Given the description of an element on the screen output the (x, y) to click on. 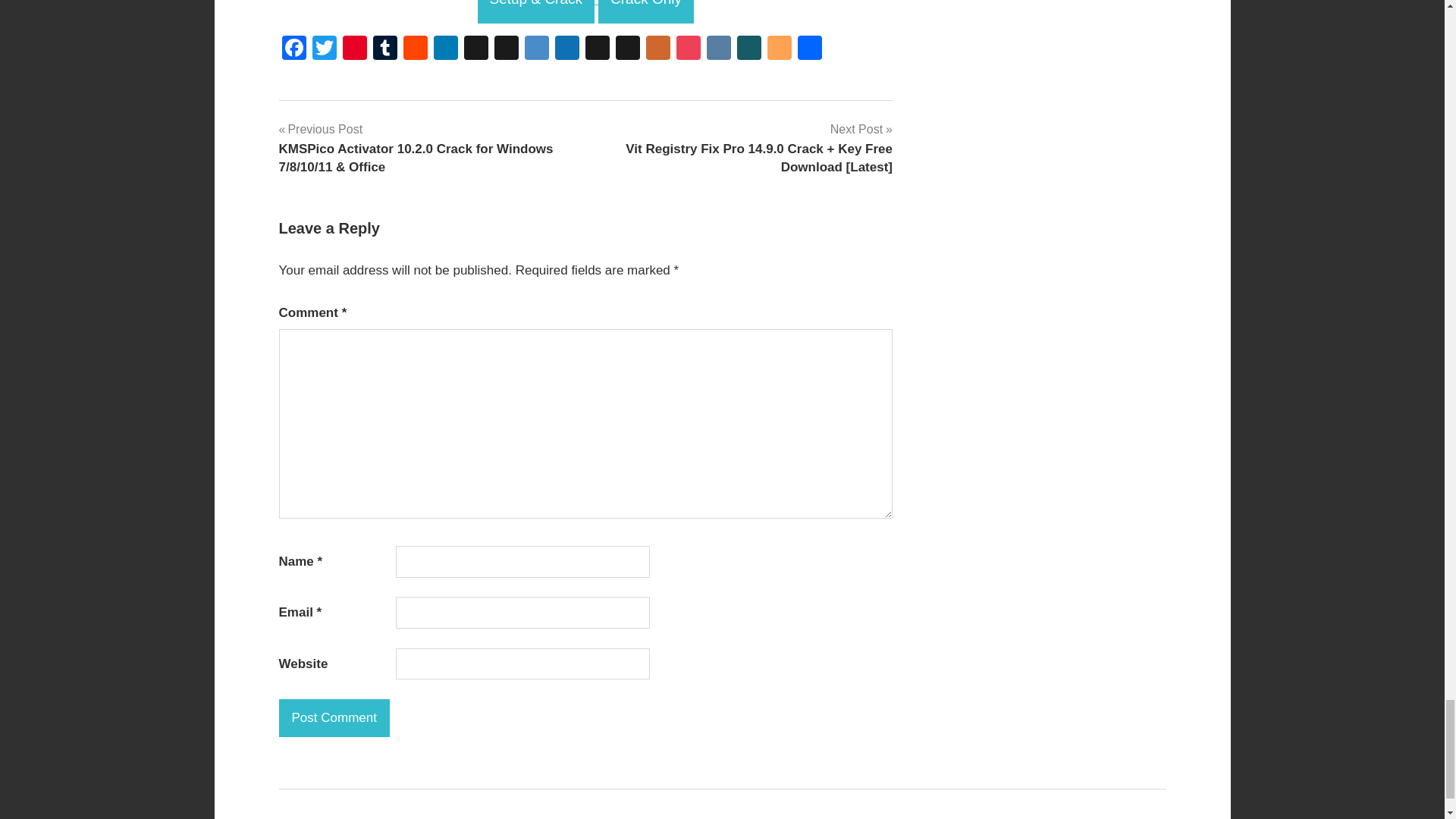
Folkd (566, 49)
Reddit (415, 49)
Digg (506, 49)
Instapaper (597, 49)
LinkedIn (445, 49)
Facebook (293, 49)
Pinterest (354, 49)
Twitter (323, 49)
Post Comment (334, 718)
Diigo (536, 49)
